Given the description of an element on the screen output the (x, y) to click on. 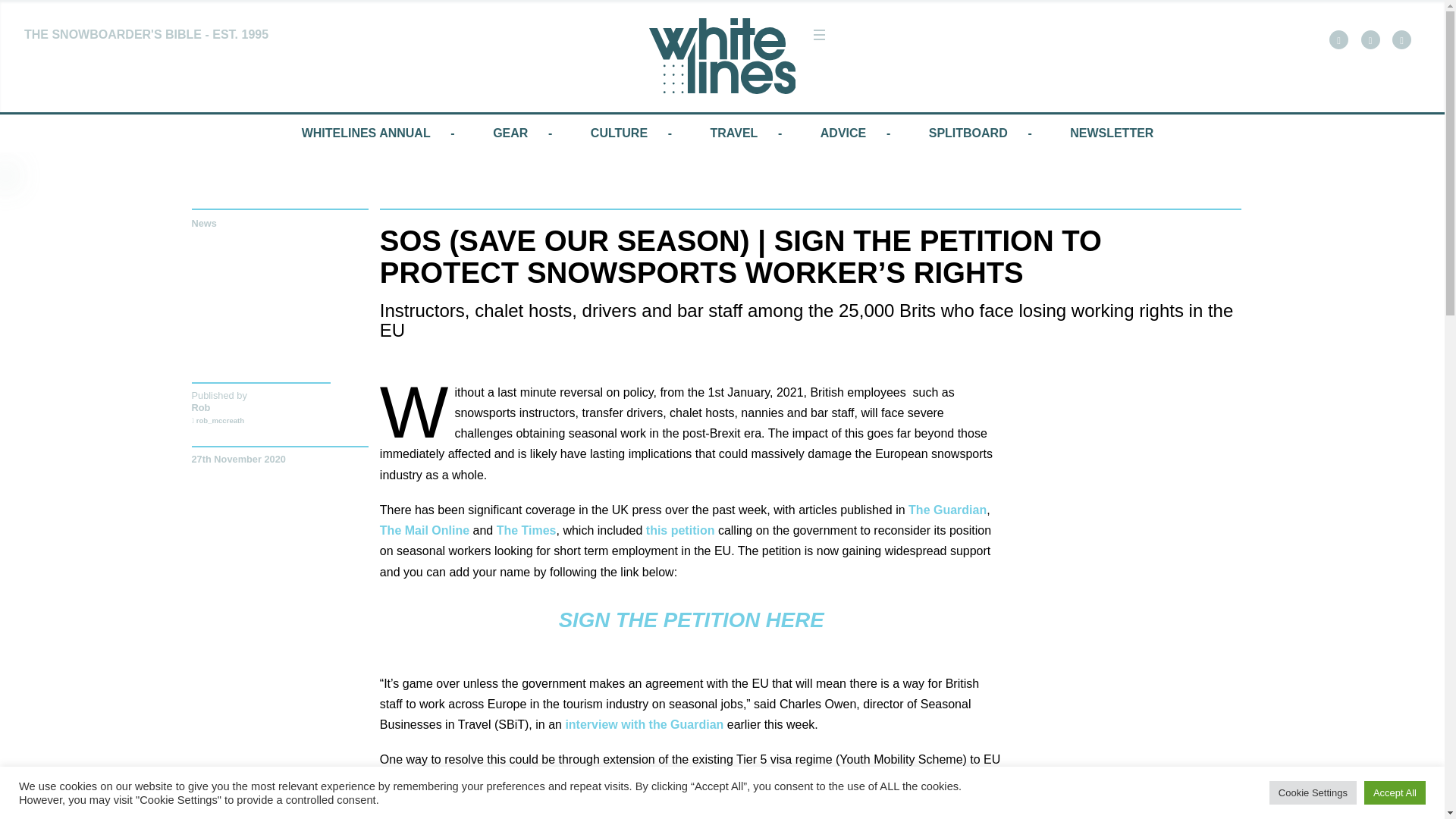
TRAVEL (734, 132)
NEWSLETTER (1111, 132)
Find us on Instagram (1400, 39)
CULTURE (619, 132)
GEAR (510, 132)
SPLITBOARD (967, 132)
Menu (818, 34)
ADVICE (843, 132)
Follow us on Twitter (1370, 39)
WHITELINES ANNUAL (365, 132)
